Given the description of an element on the screen output the (x, y) to click on. 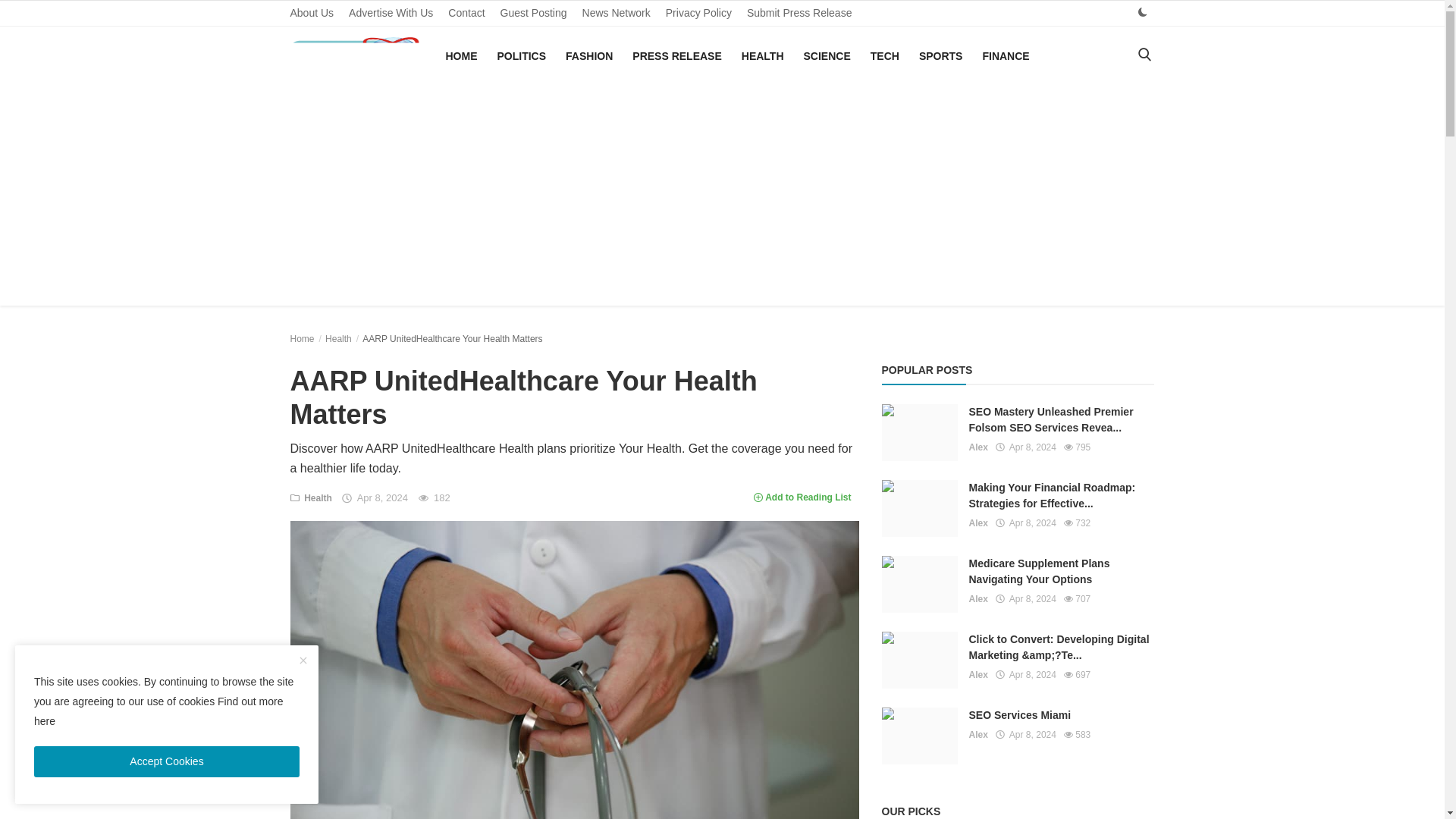
Contact (466, 13)
POLITICS (521, 55)
PRESS RELEASE (676, 55)
Submit Press Release (799, 13)
News Network (616, 13)
SPORTS (941, 55)
Privacy Policy (698, 13)
SCIENCE (827, 55)
FINANCE (1005, 55)
dark (1141, 12)
